Given the description of an element on the screen output the (x, y) to click on. 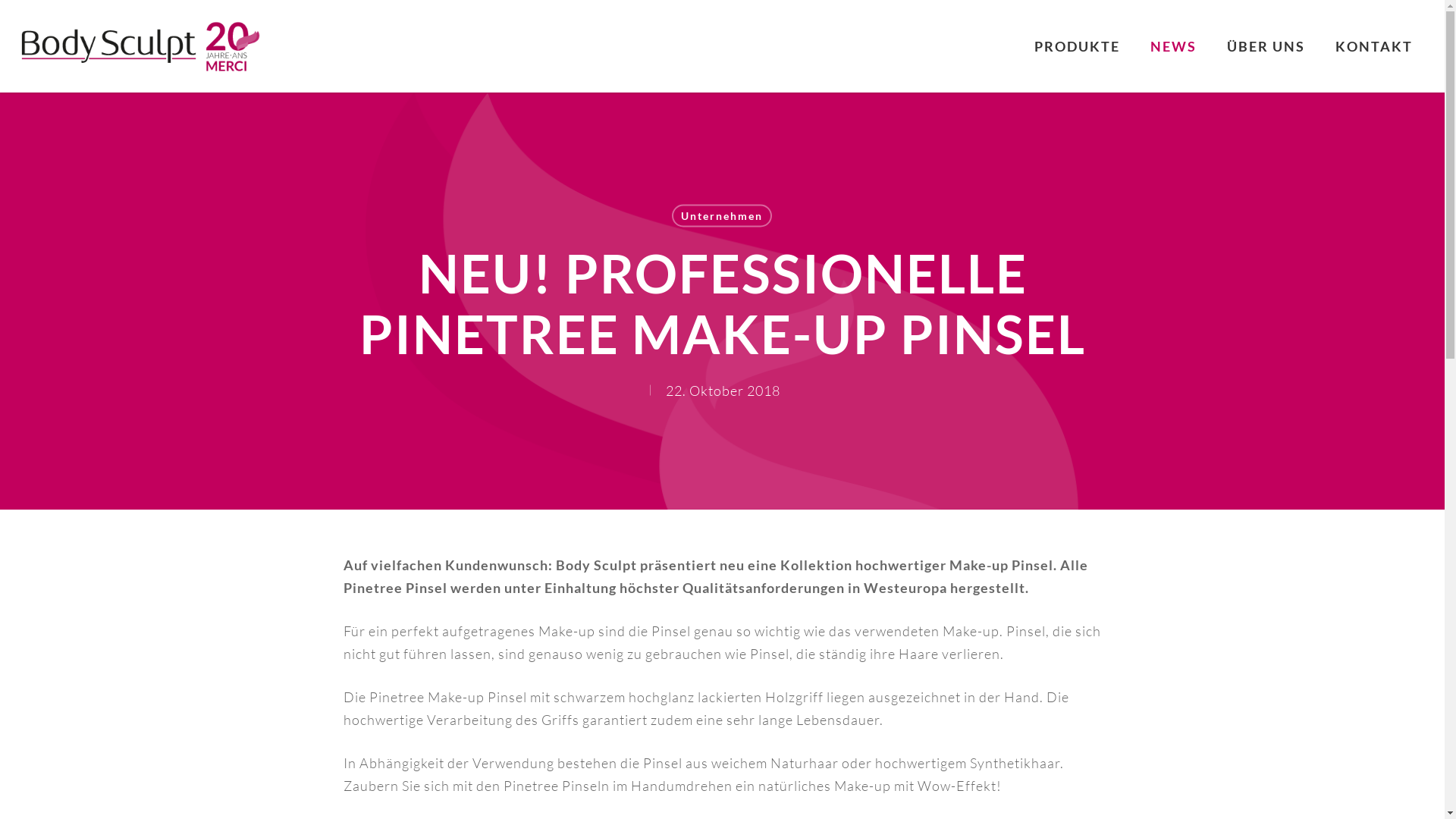
Unternehmen Element type: text (721, 215)
KONTAKT Element type: text (1373, 46)
PRODUKTE Element type: text (1077, 46)
NEWS Element type: text (1173, 46)
